Given the description of an element on the screen output the (x, y) to click on. 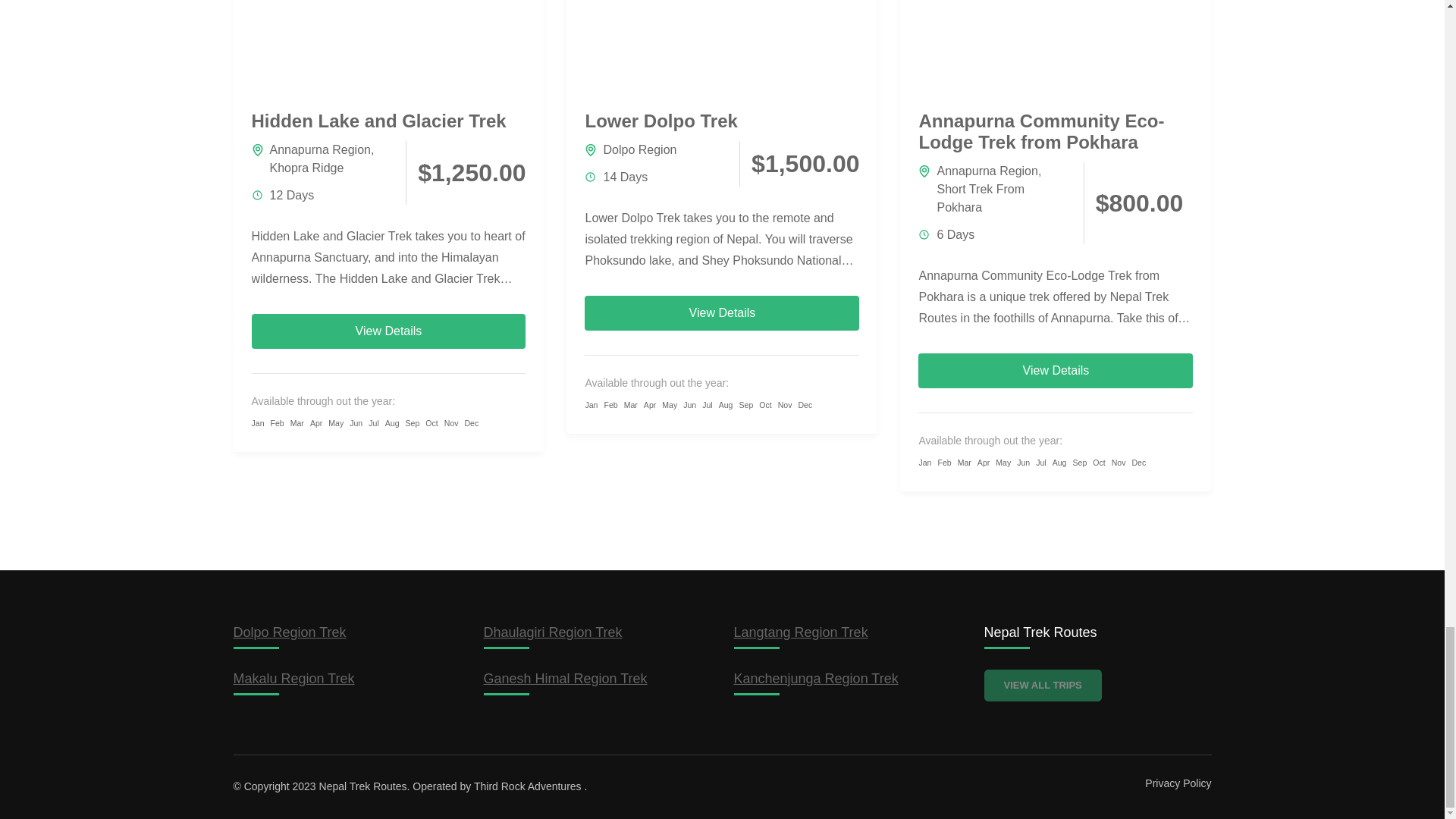
Ganesh Himal Region Trek (565, 678)
Dhaulagiri Region Trek (553, 631)
Kanchenjunga Region Trek (815, 678)
Makalu Region Trek (293, 678)
Dolpo Region Trek (289, 631)
Langtang Region Trek (800, 631)
